Given the description of an element on the screen output the (x, y) to click on. 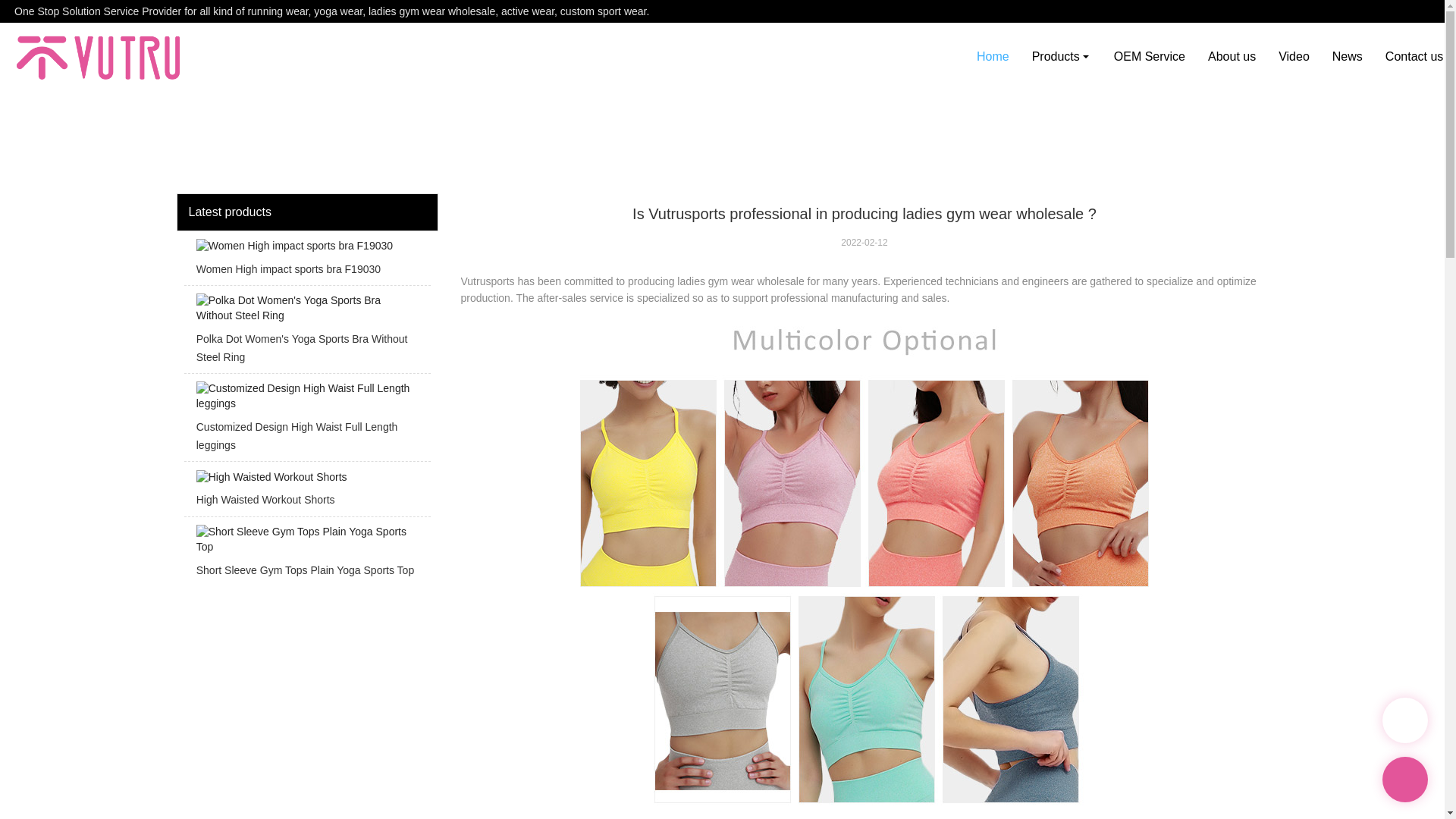
Customized Design High Waist Full Length leggings (306, 421)
OEM Service (1149, 56)
Women High impact sports bra F19030 (306, 262)
Polka Dot Women's Yoga Sports Bra Without Steel Ring (306, 333)
Short Sleeve Gym Tops Plain Yoga Sports Top (306, 555)
Products (1061, 56)
About us (1231, 56)
High Waisted Workout Shorts (306, 492)
